Given the description of an element on the screen output the (x, y) to click on. 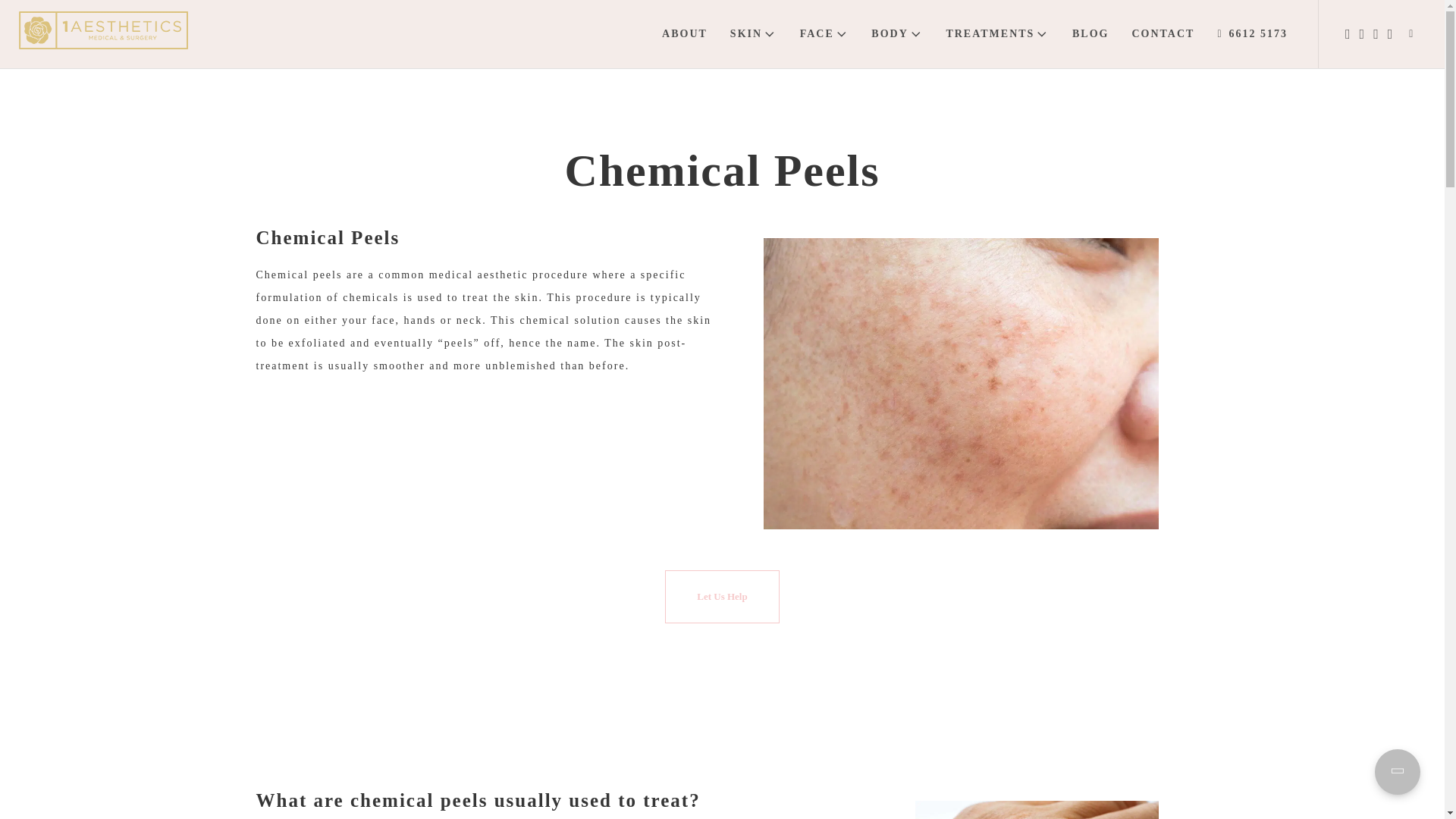
ABOUT (684, 33)
SKIN (754, 33)
BODY (897, 33)
TREATMENTS (997, 33)
FACE (824, 33)
